Given the description of an element on the screen output the (x, y) to click on. 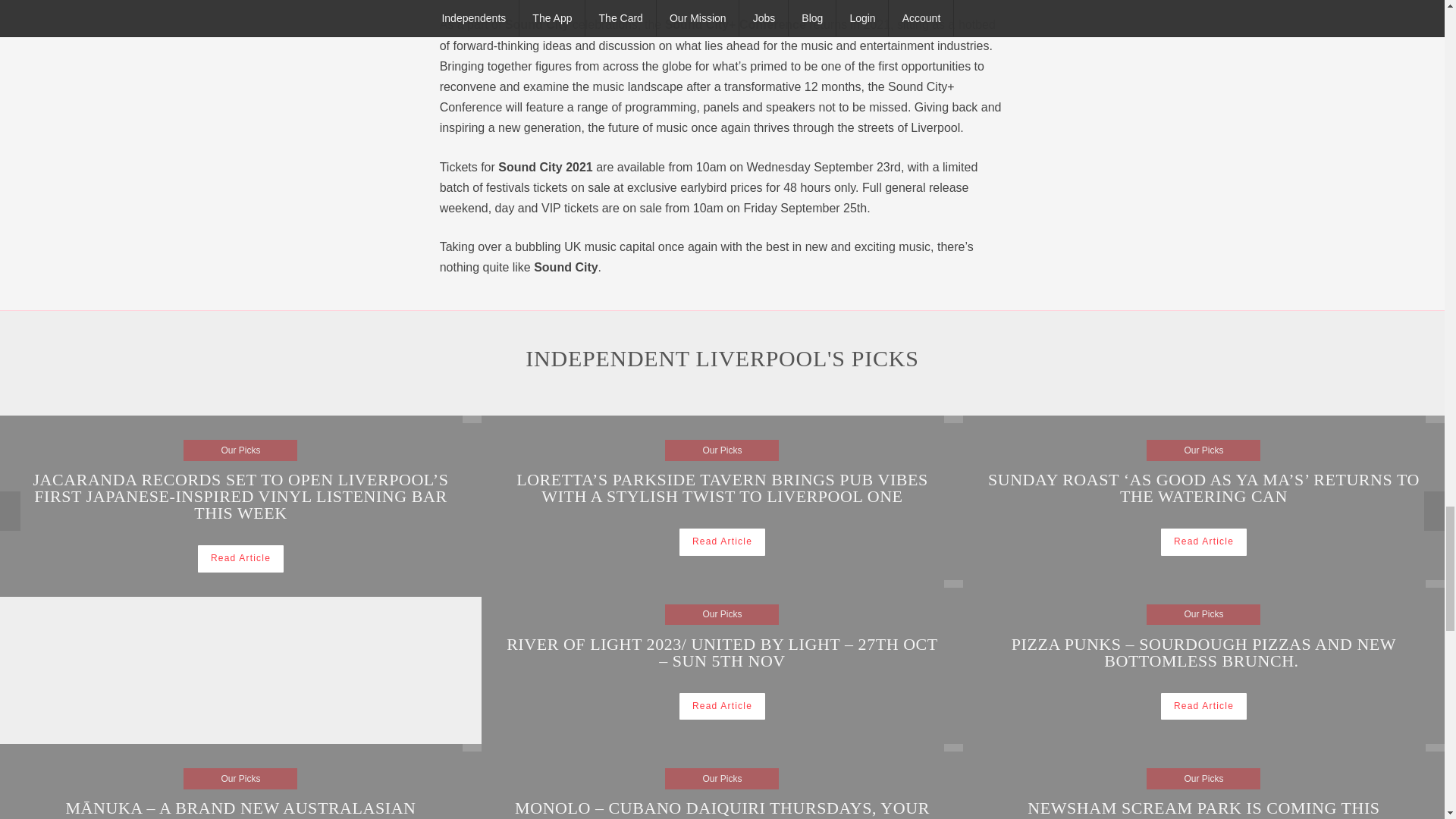
View All Posts (472, 419)
View All Posts (952, 419)
Read Article (1203, 705)
View All Posts (952, 747)
Read Article (722, 541)
View All Posts (472, 747)
Read Article (722, 705)
Read Article (1203, 541)
Read Article (240, 558)
